Given the description of an element on the screen output the (x, y) to click on. 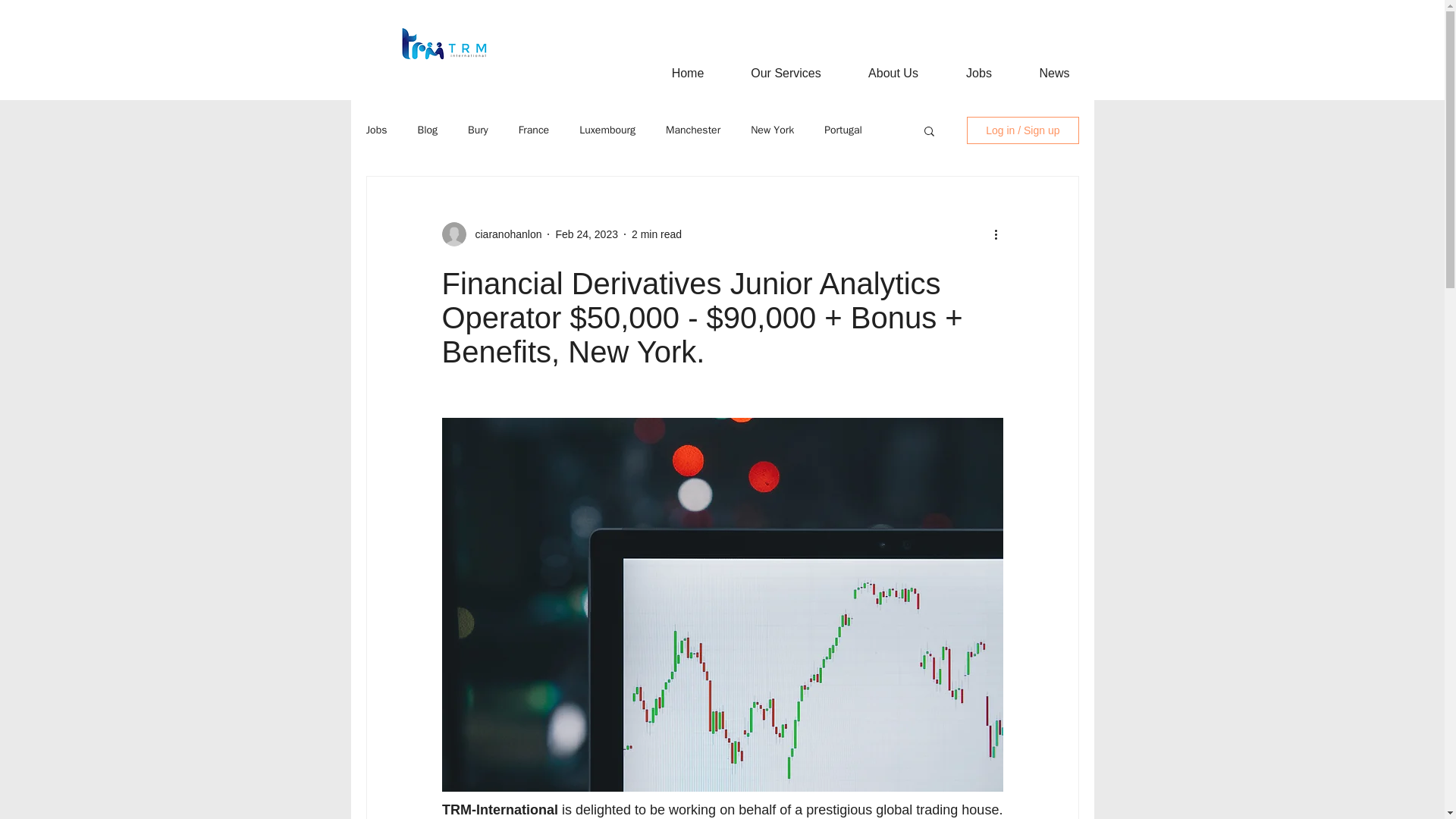
France (534, 130)
Manchester (692, 130)
New York (772, 130)
2 min read (656, 233)
About Us (893, 72)
Jobs (376, 130)
Bury (477, 130)
Portugal (842, 130)
Feb 24, 2023 (585, 233)
Jobs (978, 72)
Luxembourg (606, 130)
Home (686, 72)
News (1054, 72)
Blog (427, 130)
Our Services (786, 72)
